Given the description of an element on the screen output the (x, y) to click on. 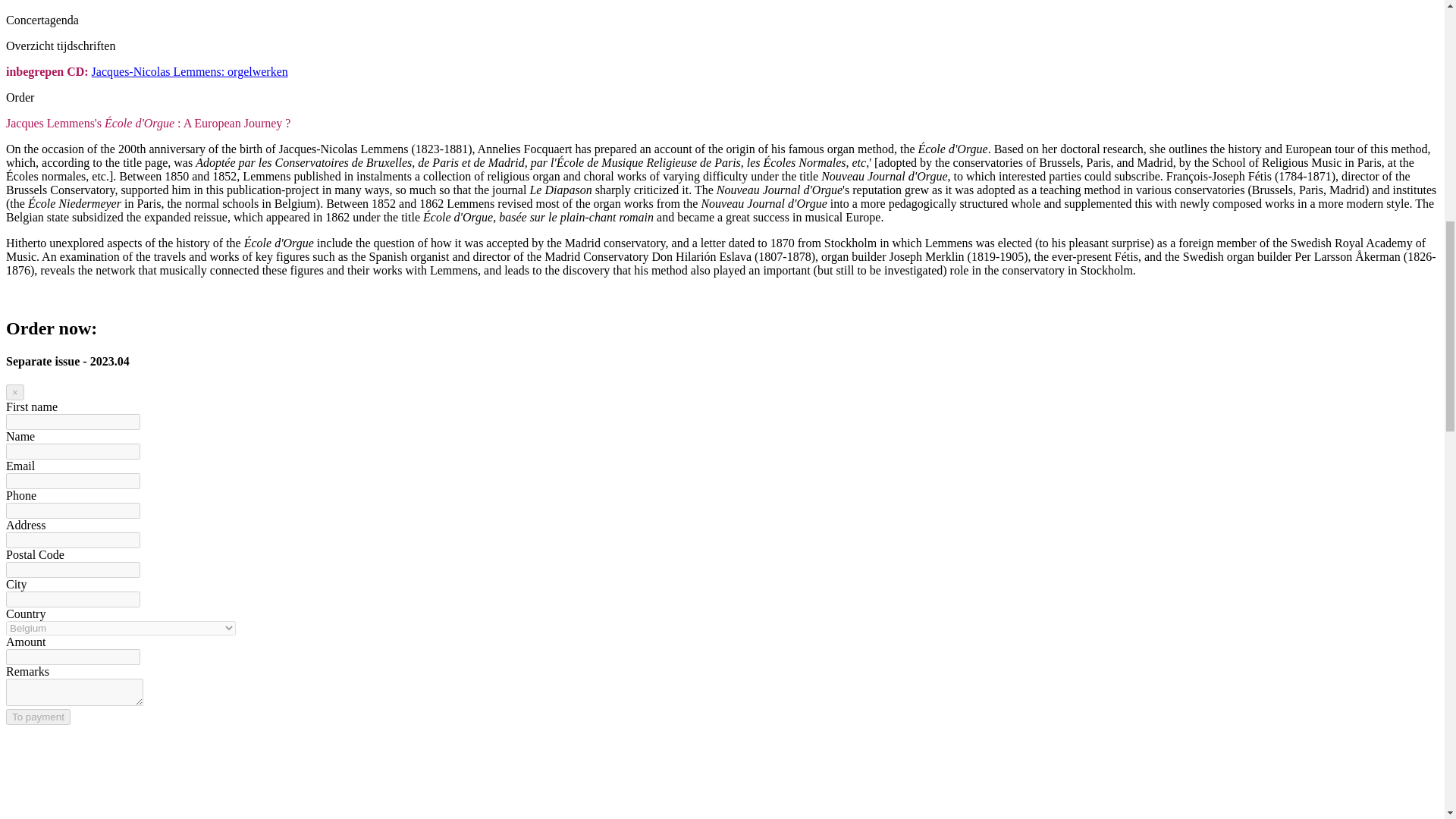
Order (19, 97)
To payment (37, 716)
Jacques-Nicolas Lemmens: orgelwerken (189, 71)
To payment (37, 716)
